Given the description of an element on the screen output the (x, y) to click on. 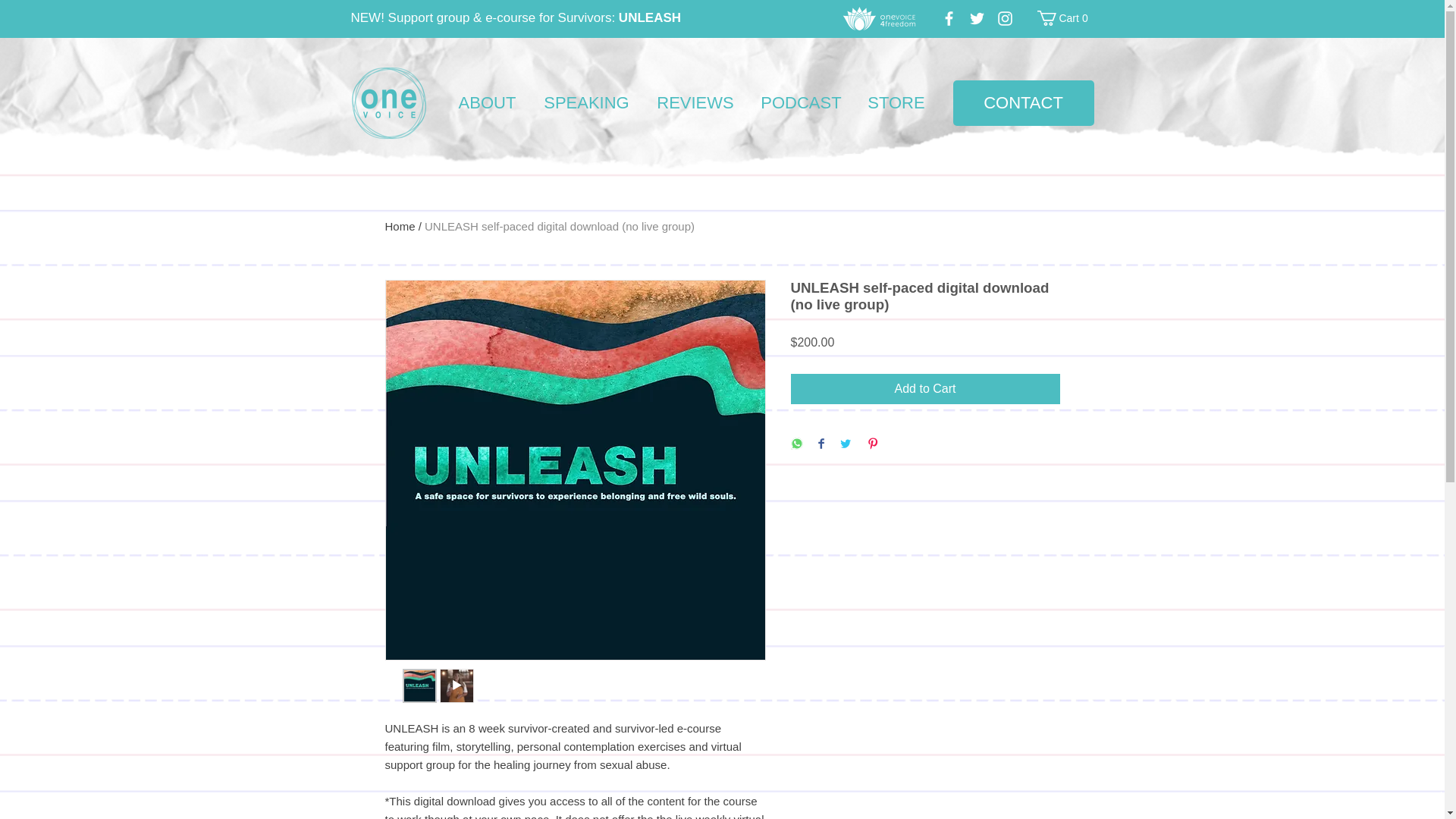
PODCAST (802, 103)
REVIEWS (694, 103)
CONTACT (1022, 103)
SPEAKING (586, 103)
Home (399, 226)
ABOUT (486, 103)
STORE (896, 103)
Add to Cart (1065, 17)
